Given the description of an element on the screen output the (x, y) to click on. 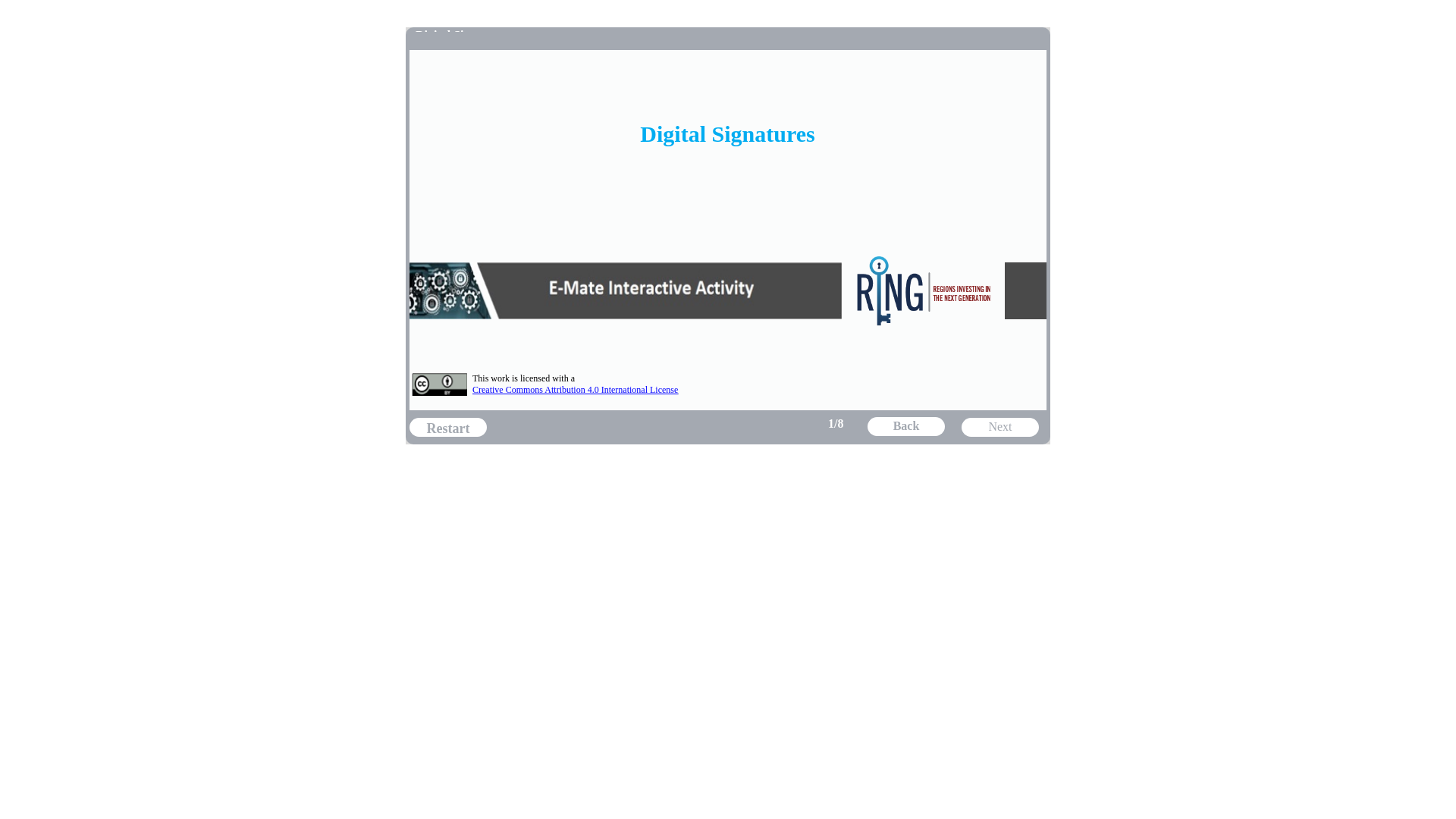
Creative Commons Attribution 4.0 International License (574, 389)
